Given the description of an element on the screen output the (x, y) to click on. 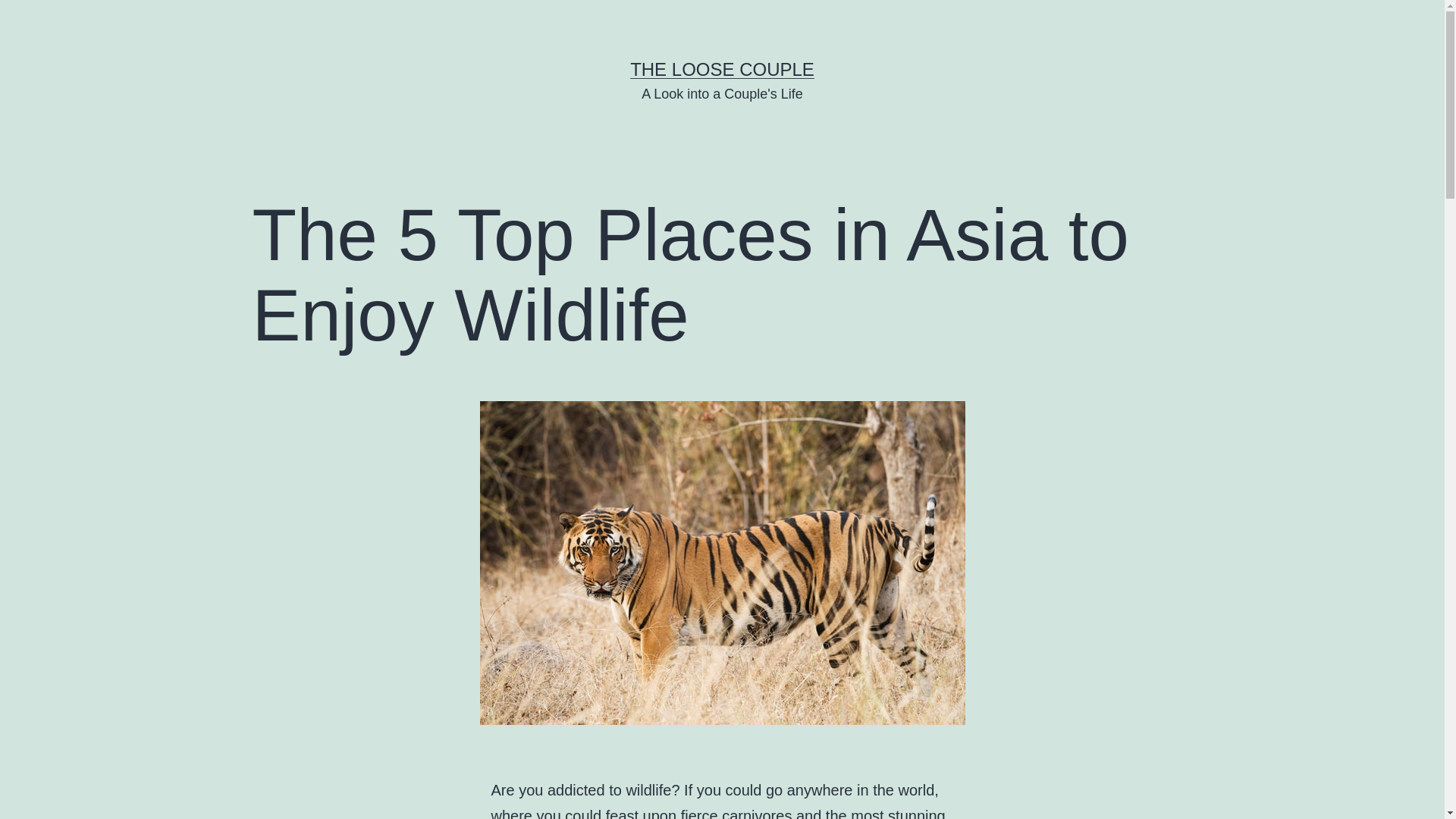
THE LOOSE COUPLE (721, 68)
